Given the description of an element on the screen output the (x, y) to click on. 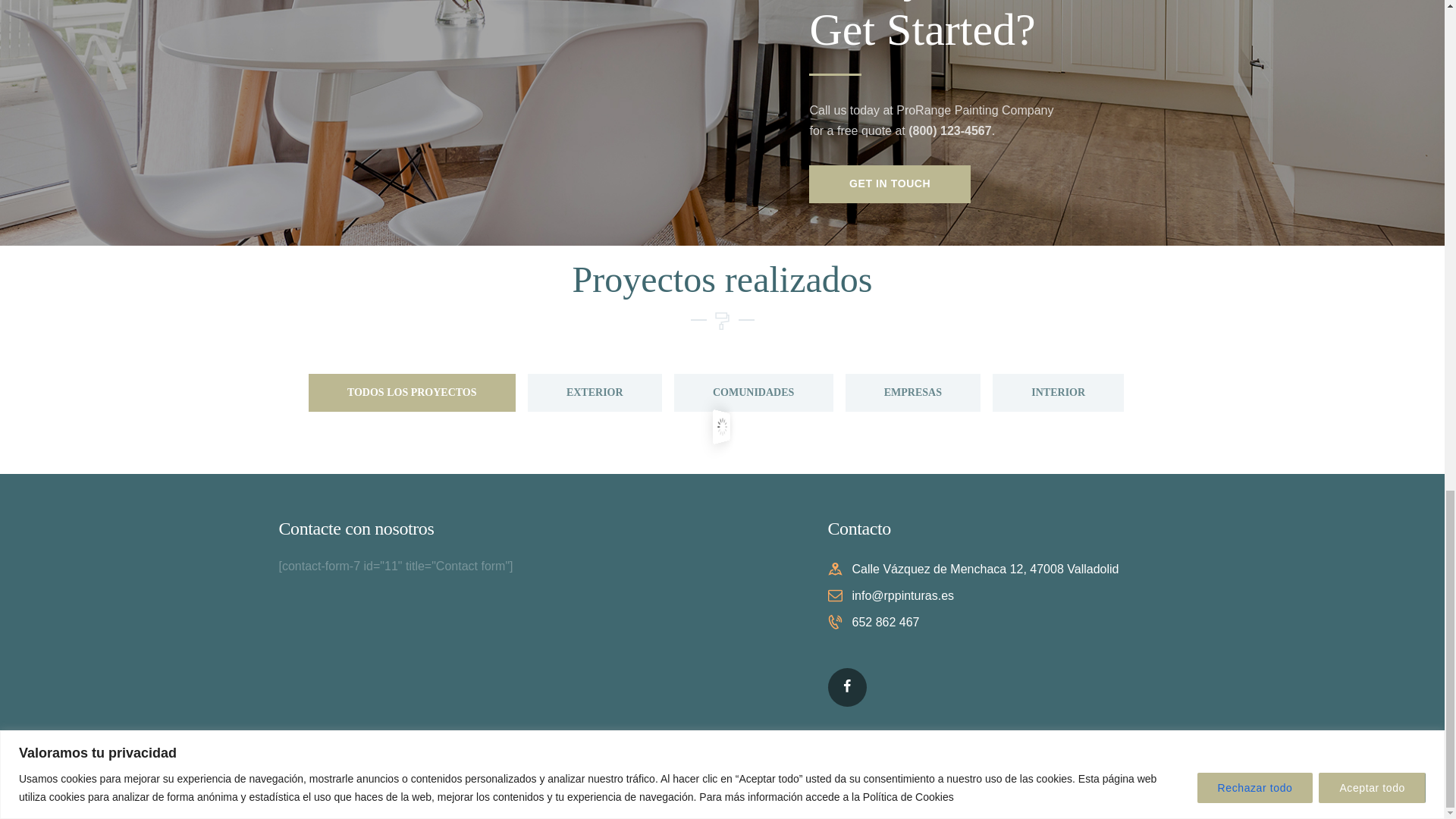
Condiciones de uso (599, 784)
GET IN TOUCH (889, 184)
